Given the description of an element on the screen output the (x, y) to click on. 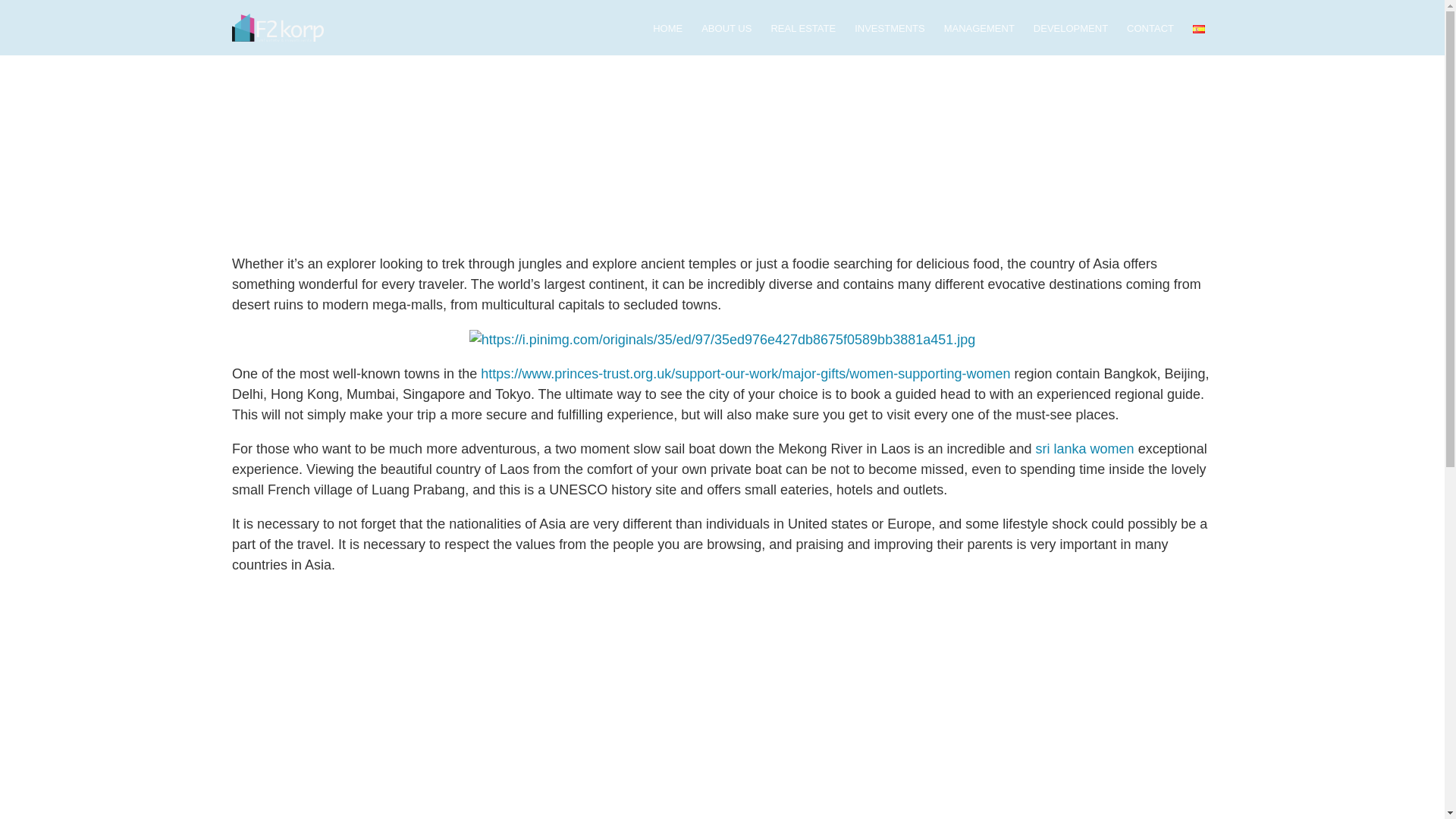
ABOUT US (726, 29)
sri lanka women (1084, 448)
MANAGEMENT (978, 29)
INVESTMENTS (889, 29)
HOME (667, 29)
REAL ESTATE (802, 29)
DEVELOPMENT (1070, 29)
CONTACT (1149, 29)
